Given the description of an element on the screen output the (x, y) to click on. 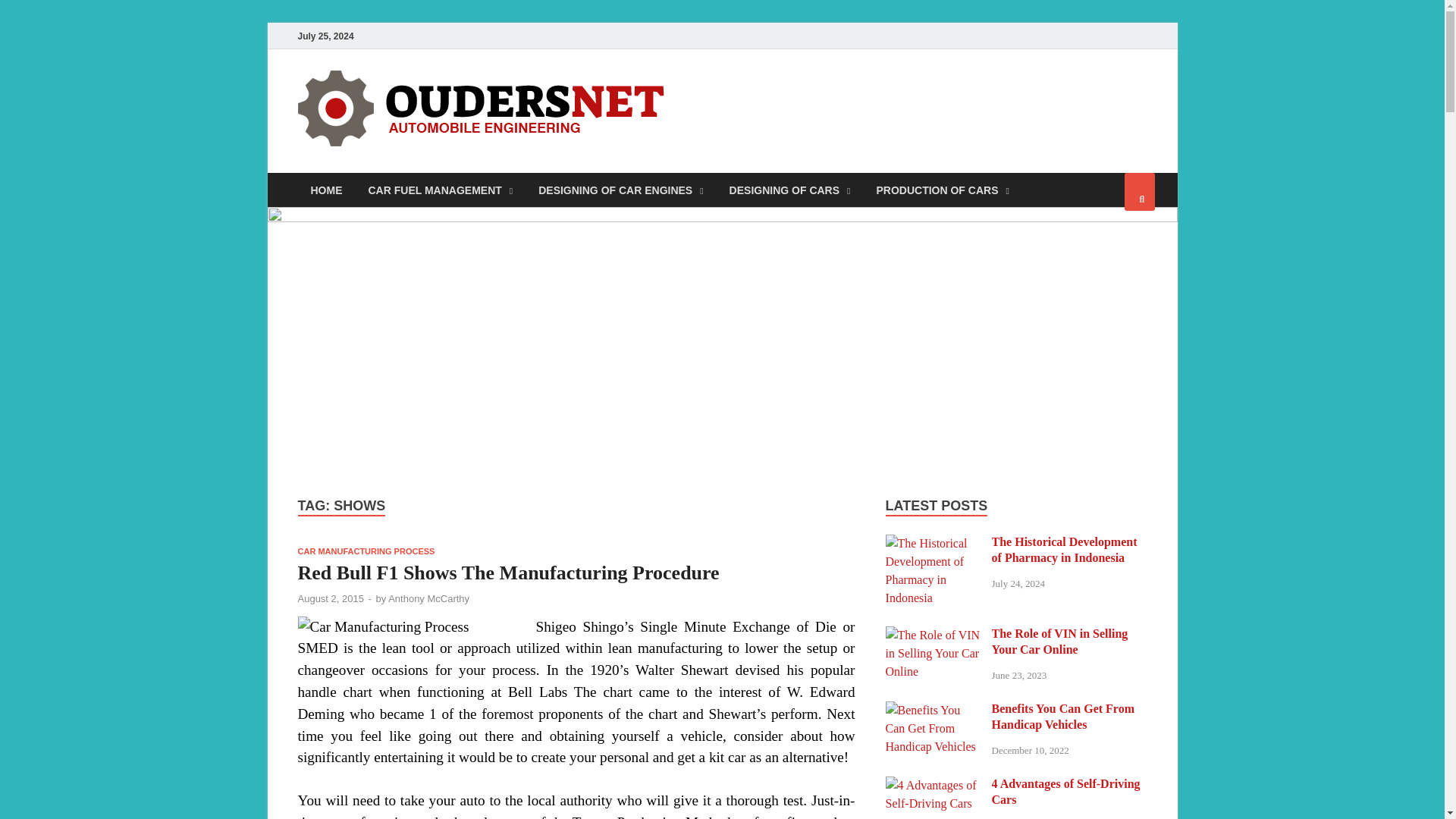
Benefits You Can Get From Handicap Vehicles (932, 709)
The Historical Development of Pharmacy in Indonesia (932, 543)
DESIGNING OF CARS (789, 189)
4 Advantages of Self-Driving Cars (932, 784)
DESIGNING OF CAR ENGINES (620, 189)
PRODUCTION OF CARS (942, 189)
HOME (326, 189)
CAR FUEL MANAGEMENT (440, 189)
The Role of VIN in Selling Your Car Online (932, 634)
